Given the description of an element on the screen output the (x, y) to click on. 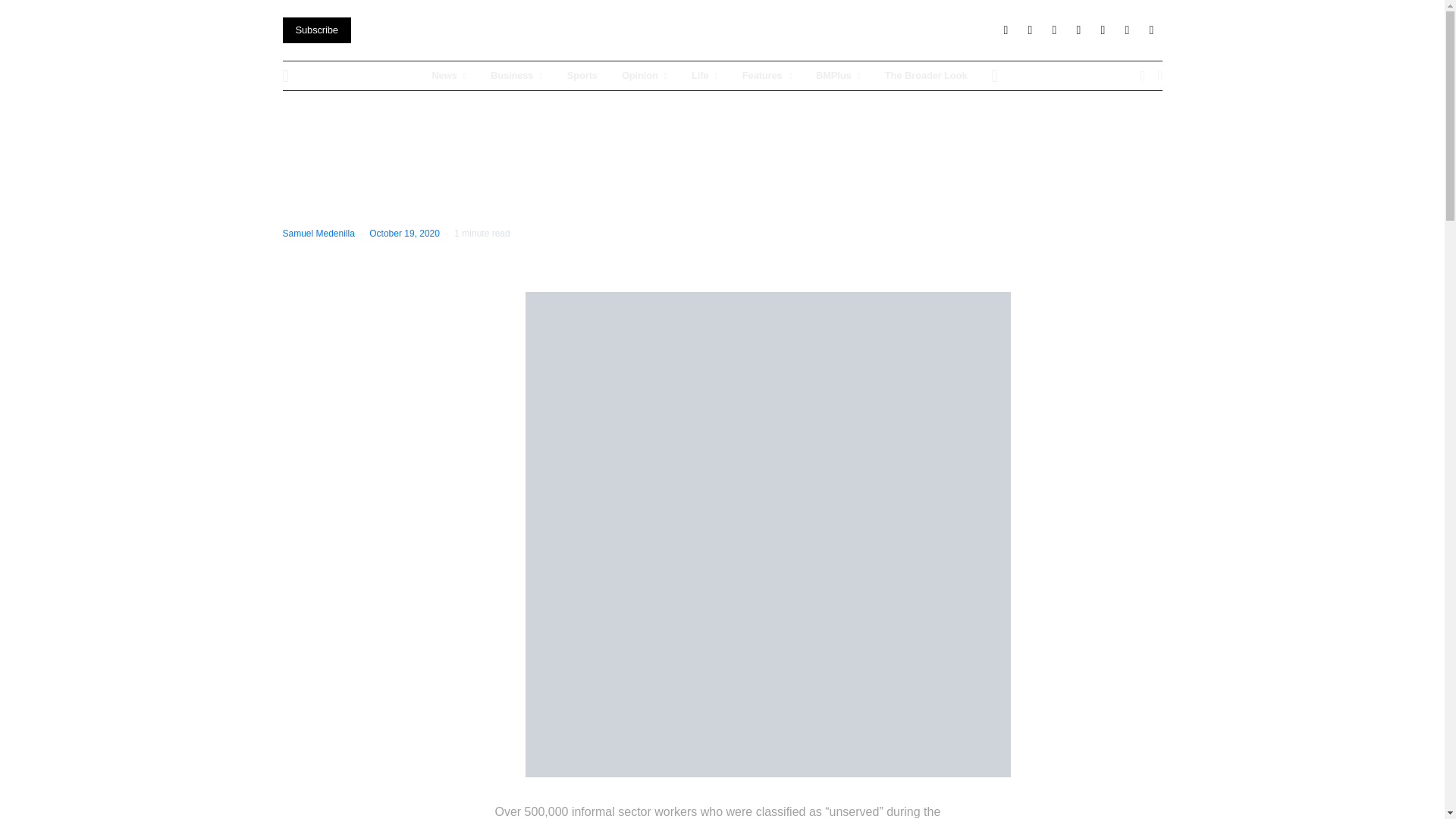
View all posts by Samuel Medenilla (317, 233)
